Given the description of an element on the screen output the (x, y) to click on. 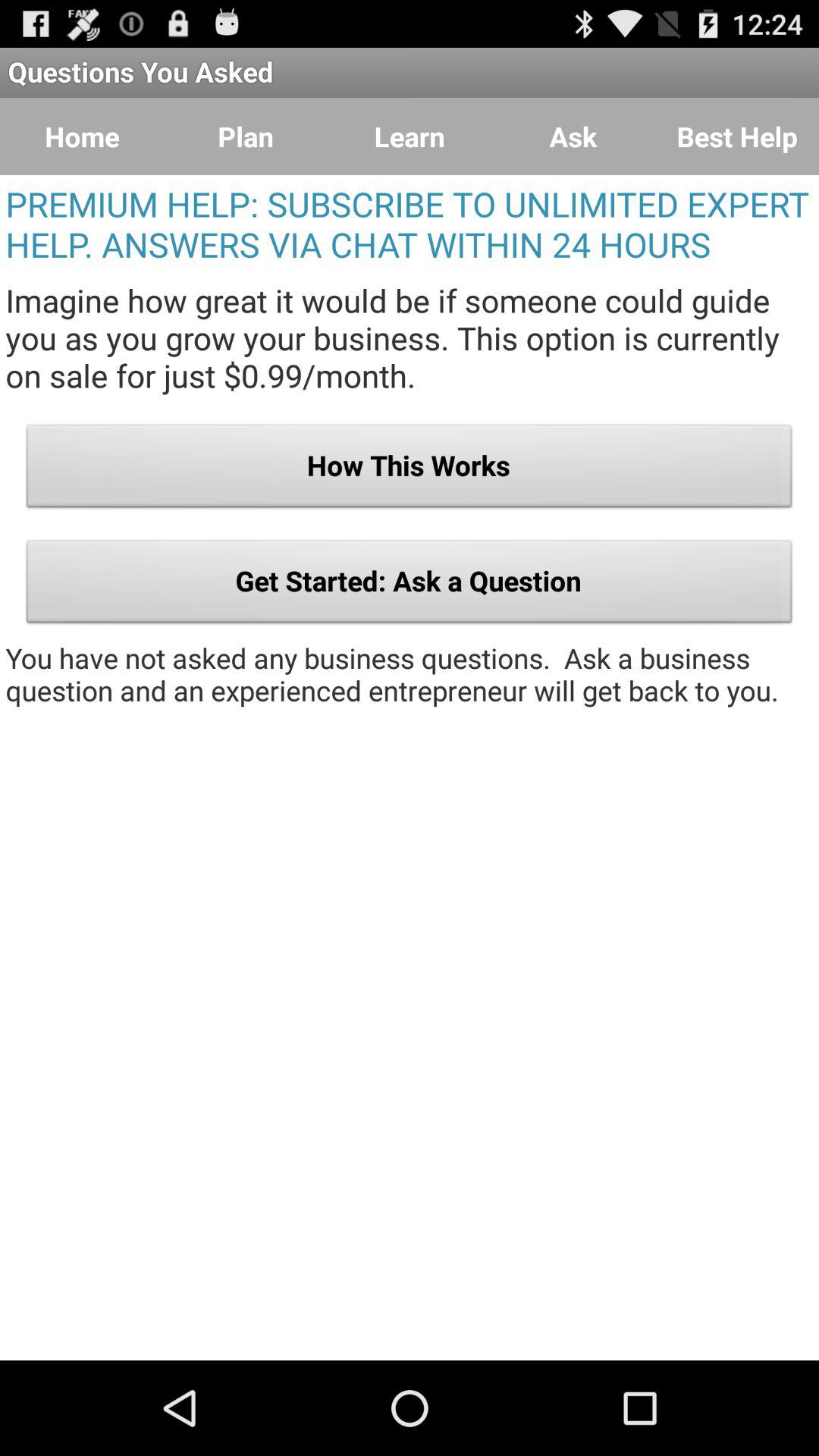
open the icon above the premium help subscribe icon (245, 136)
